Given the description of an element on the screen output the (x, y) to click on. 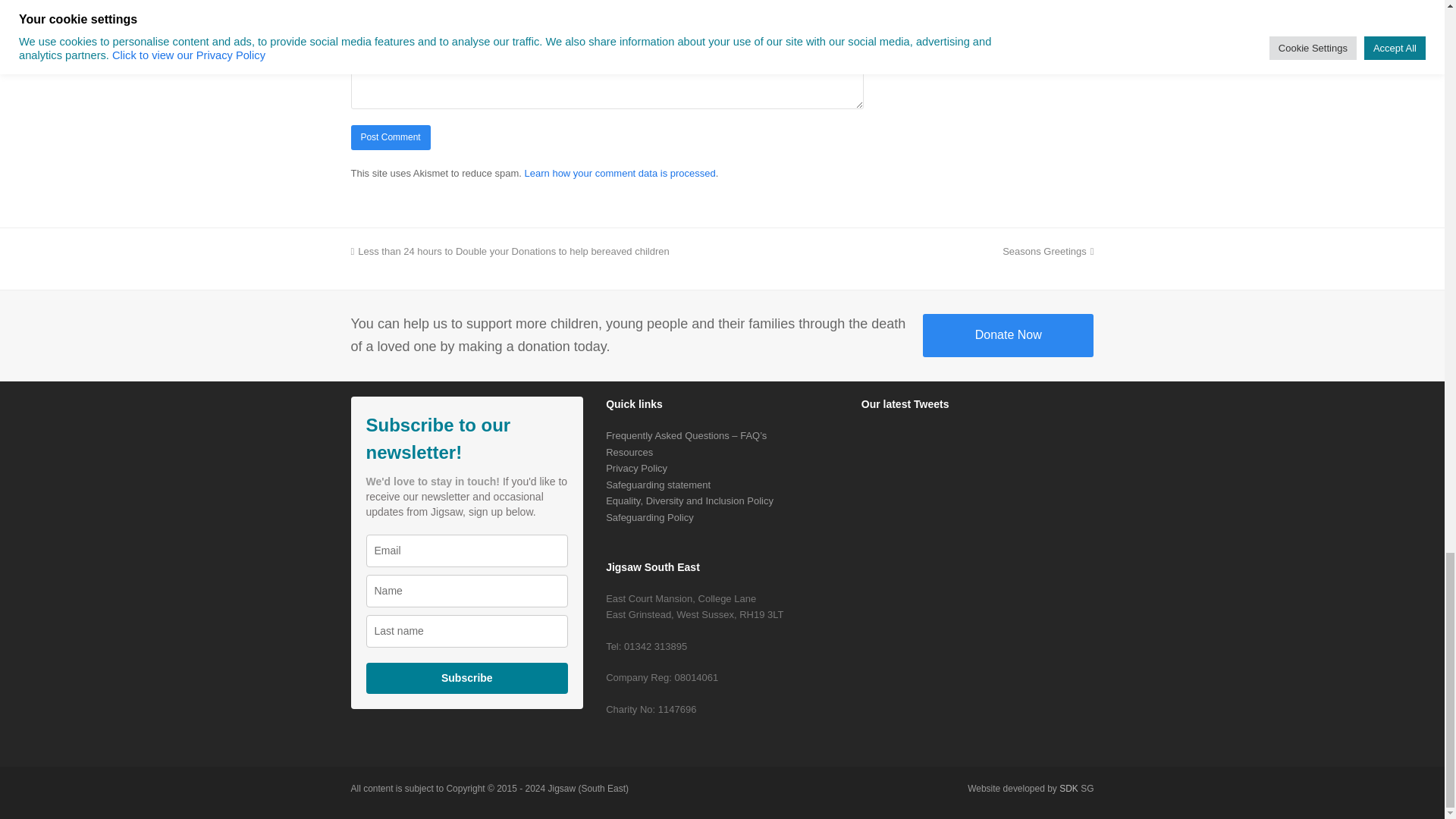
Post Comment (389, 137)
